Given the description of an element on the screen output the (x, y) to click on. 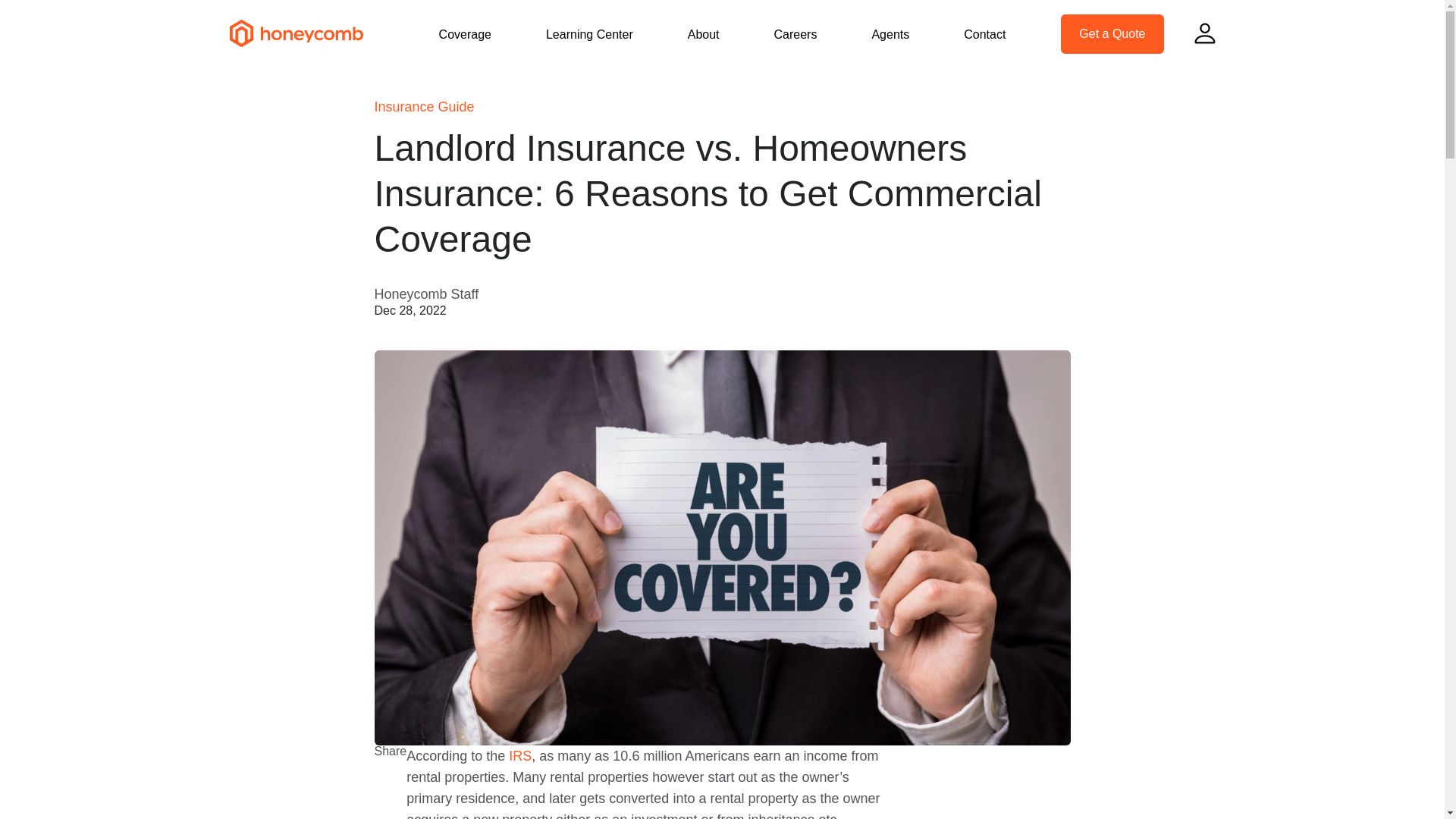
Learning Center (589, 34)
Contact (984, 34)
Get a Quote (1127, 34)
Careers (795, 34)
Agents (889, 34)
Get a Quote (1112, 34)
Coverage (465, 34)
About (703, 34)
IRS (519, 755)
